Given the description of an element on the screen output the (x, y) to click on. 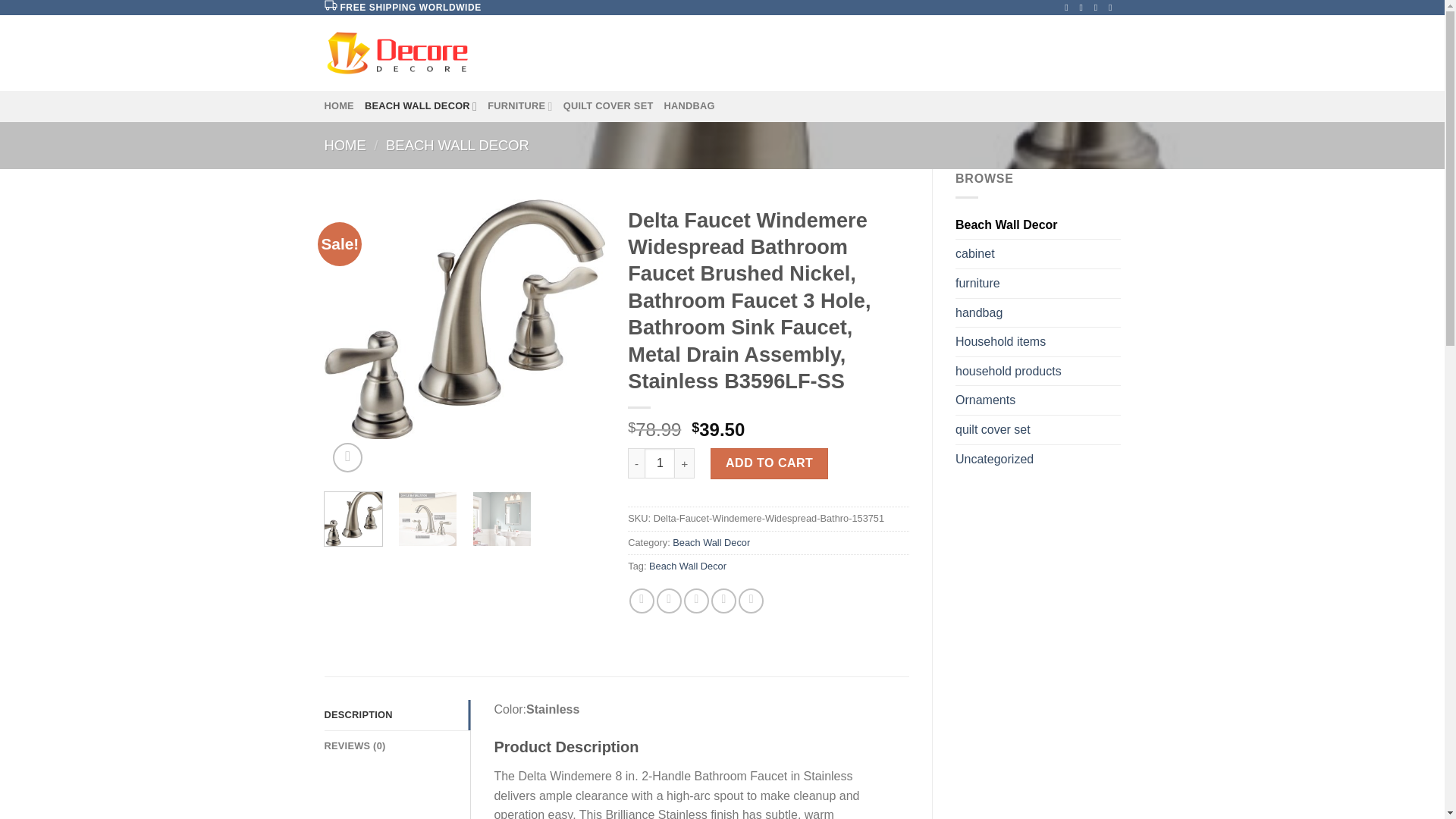
HOME (338, 105)
Share on Facebook (640, 600)
household products (1038, 371)
BEACH WALL DECOR (457, 145)
Zoom (347, 457)
BEACH WALL DECOR (421, 105)
handbag (1038, 312)
FURNITURE (520, 105)
Cart (1074, 52)
quilt cover set (1038, 429)
